Given the description of an element on the screen output the (x, y) to click on. 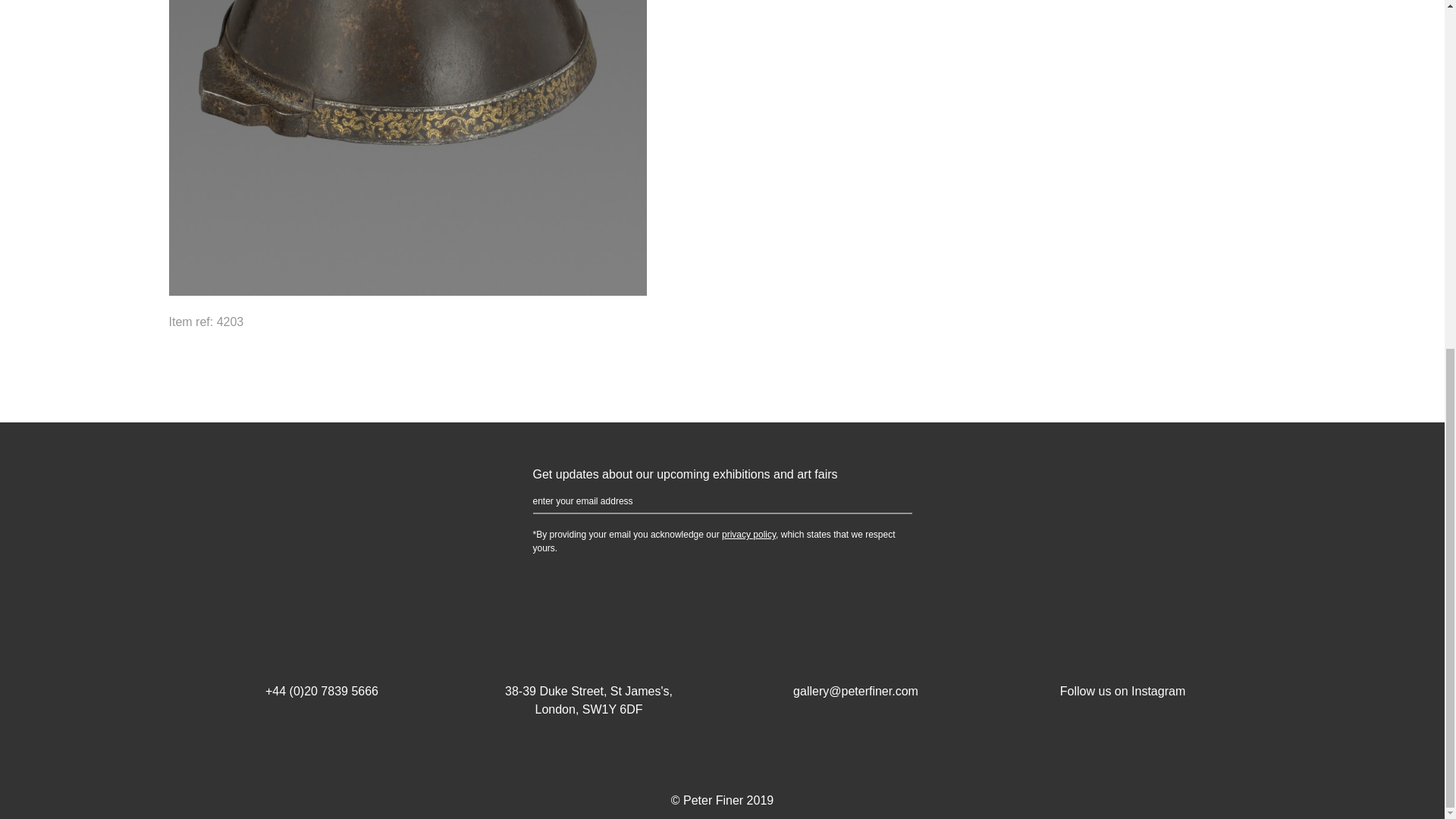
Follow us on Instagram (1121, 672)
Submit (888, 502)
privacy policy (749, 534)
SW1Y 6DF (612, 708)
Submit (888, 502)
